Given the description of an element on the screen output the (x, y) to click on. 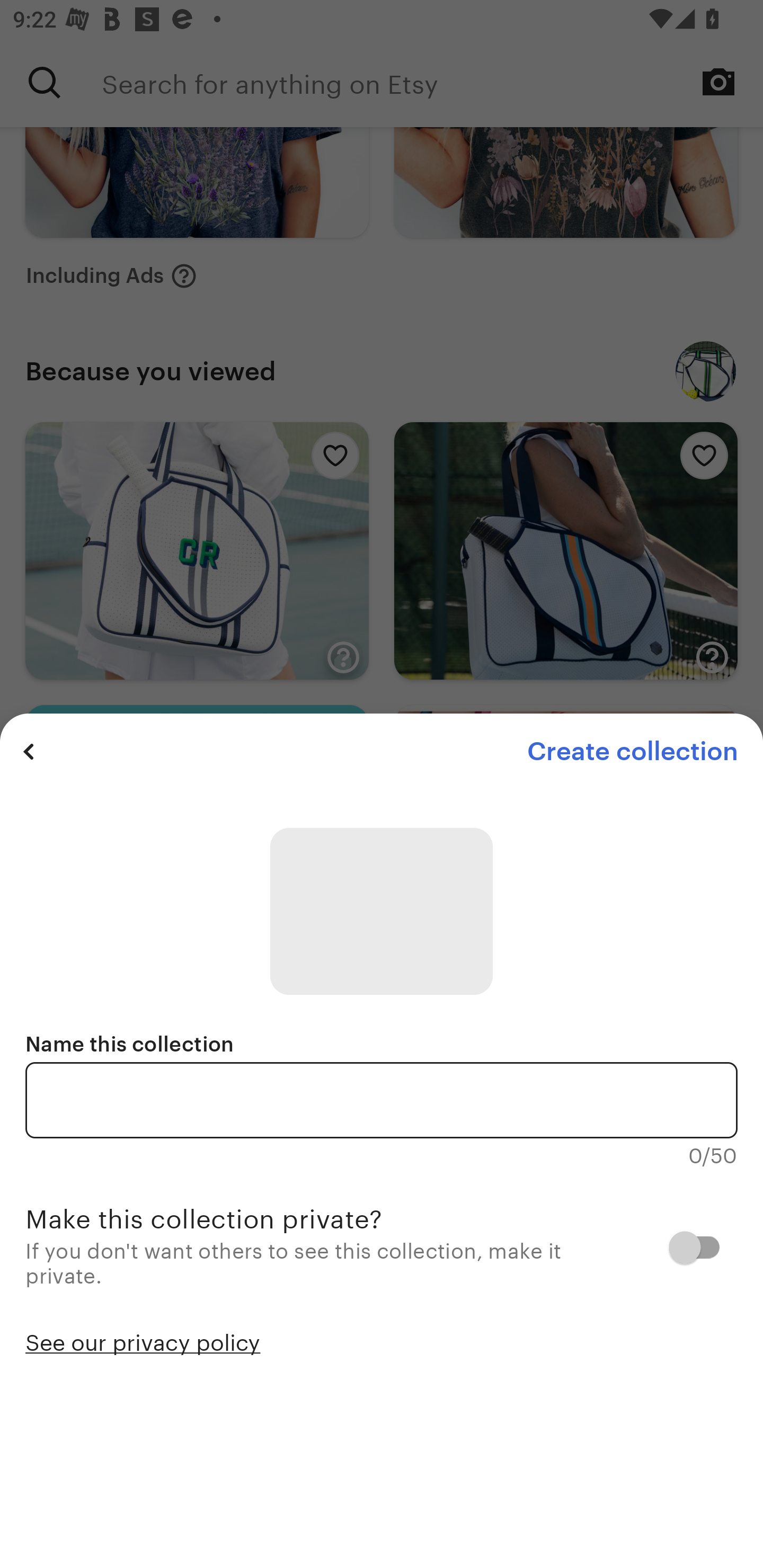
Previous (28, 751)
Create collection (632, 751)
See our privacy policy (142, 1341)
